Given the description of an element on the screen output the (x, y) to click on. 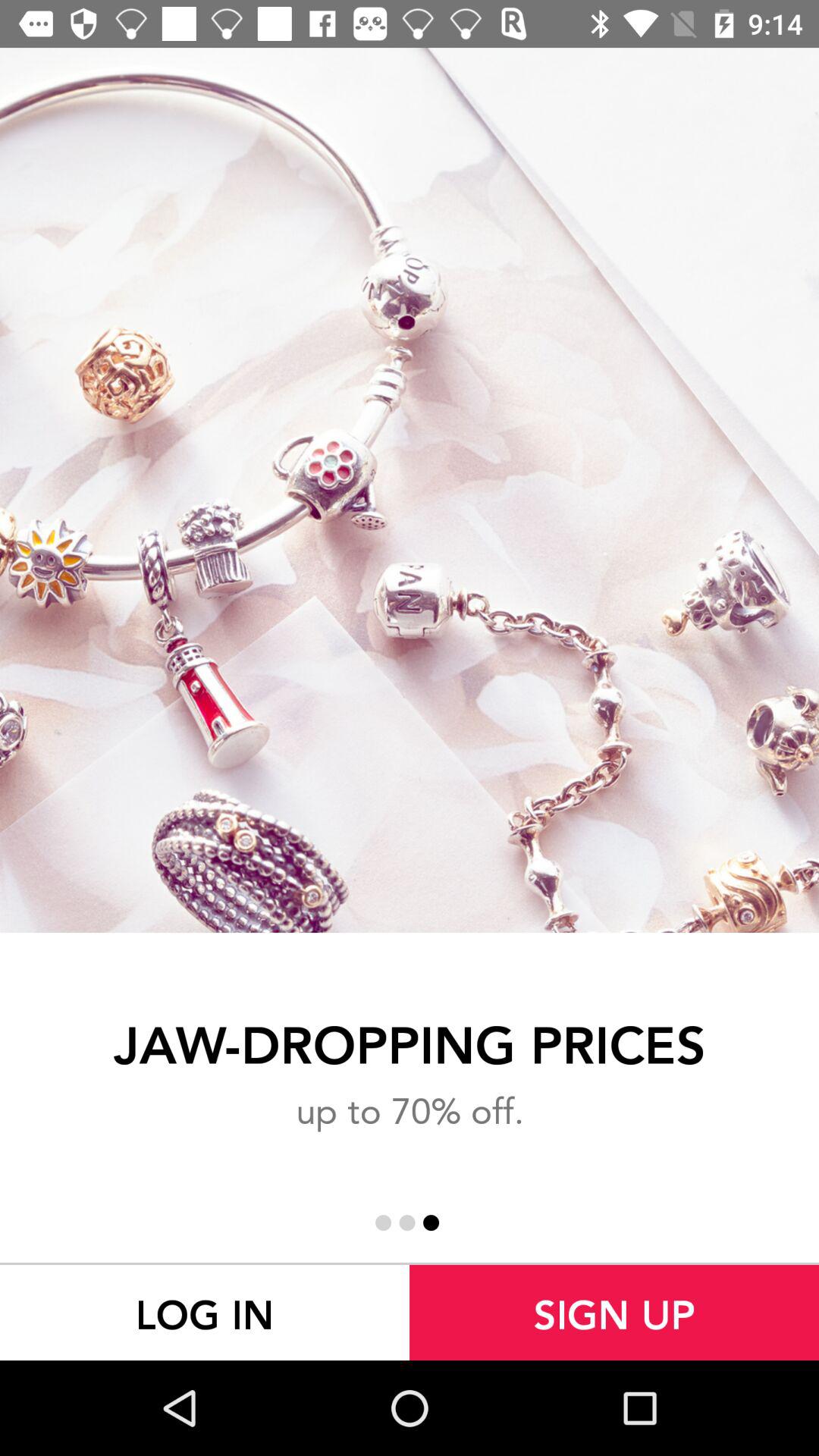
scroll until sign up item (614, 1312)
